Given the description of an element on the screen output the (x, y) to click on. 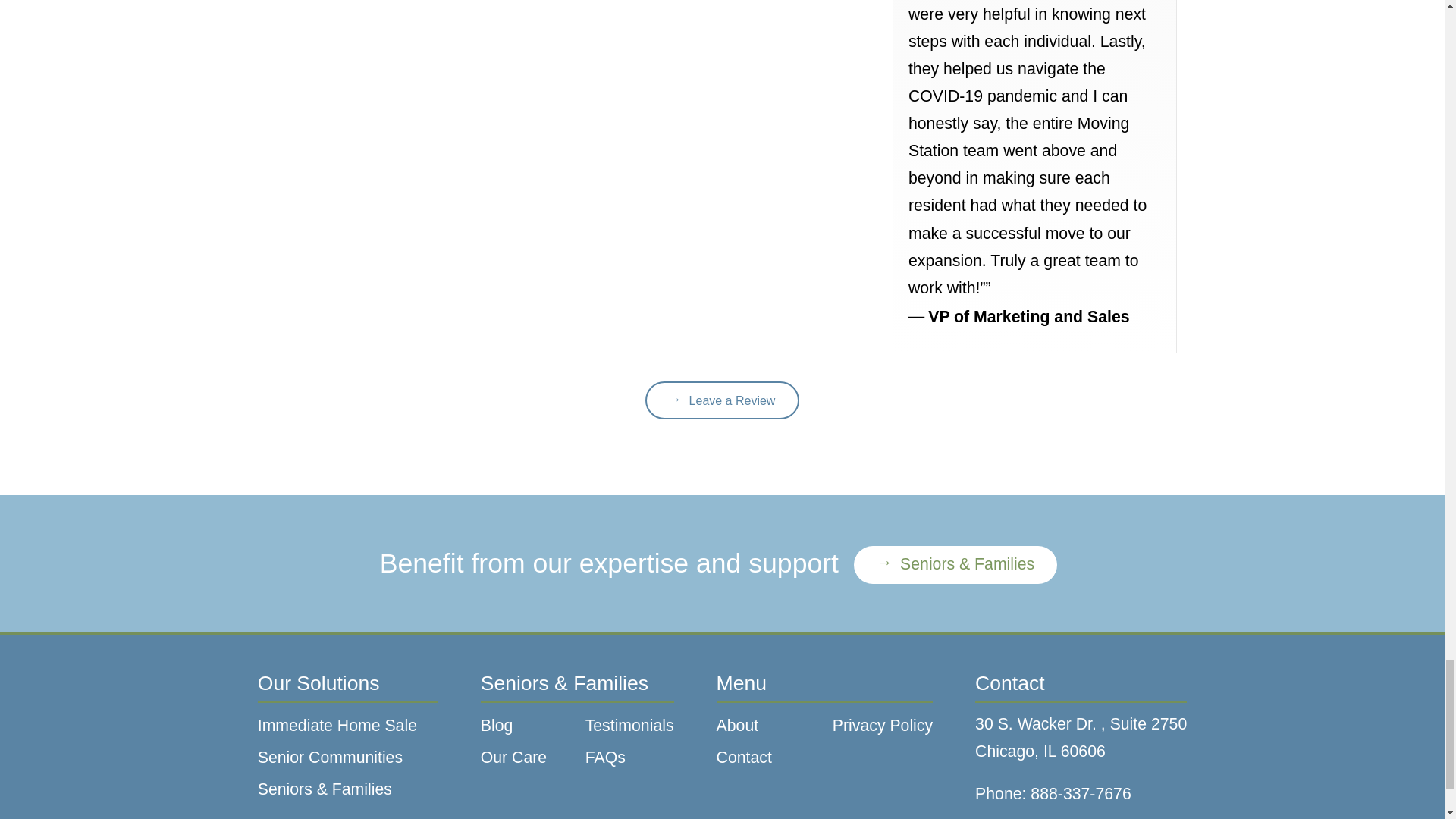
Menu (824, 687)
Testimonials (629, 726)
FAQs (629, 757)
Our Solutions (347, 687)
Our Care (524, 757)
Senior Communities (347, 757)
Leave a Review (722, 400)
Privacy Policy (882, 726)
Contact (766, 757)
About (766, 726)
